Given the description of an element on the screen output the (x, y) to click on. 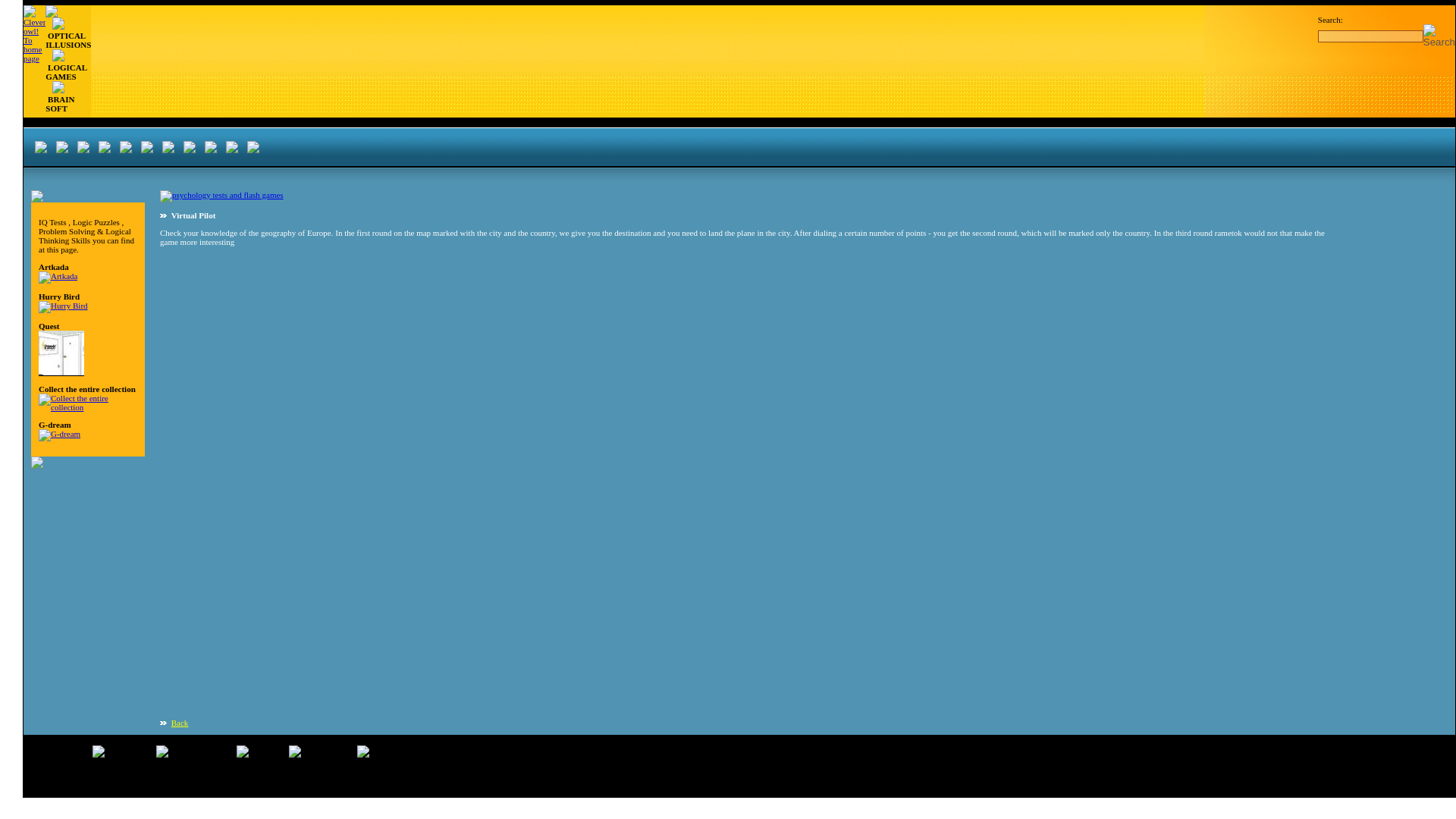
ok (1438, 35)
Galleries (130, 755)
Back (180, 722)
LOGICAL GAMES (65, 72)
Home (71, 755)
News (269, 755)
BRAIN SOFT (59, 104)
About (390, 755)
OPTICAL ILLUSIONS (67, 40)
Brain Soft (329, 755)
Privat Policy (332, 769)
